Given the description of an element on the screen output the (x, y) to click on. 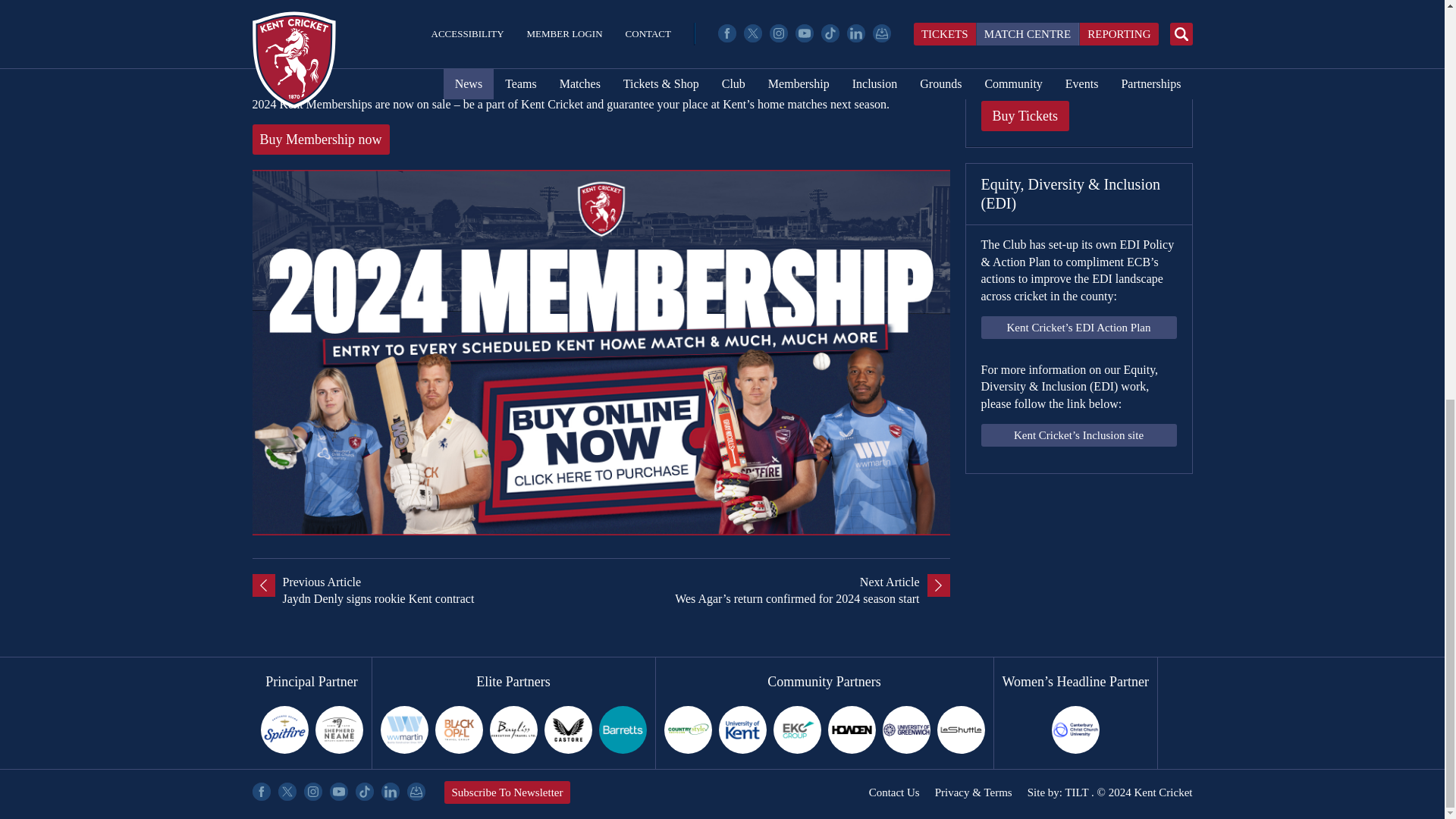
Previous Article (425, 591)
Next Article (774, 591)
Web Design Kent (1075, 792)
